Given the description of an element on the screen output the (x, y) to click on. 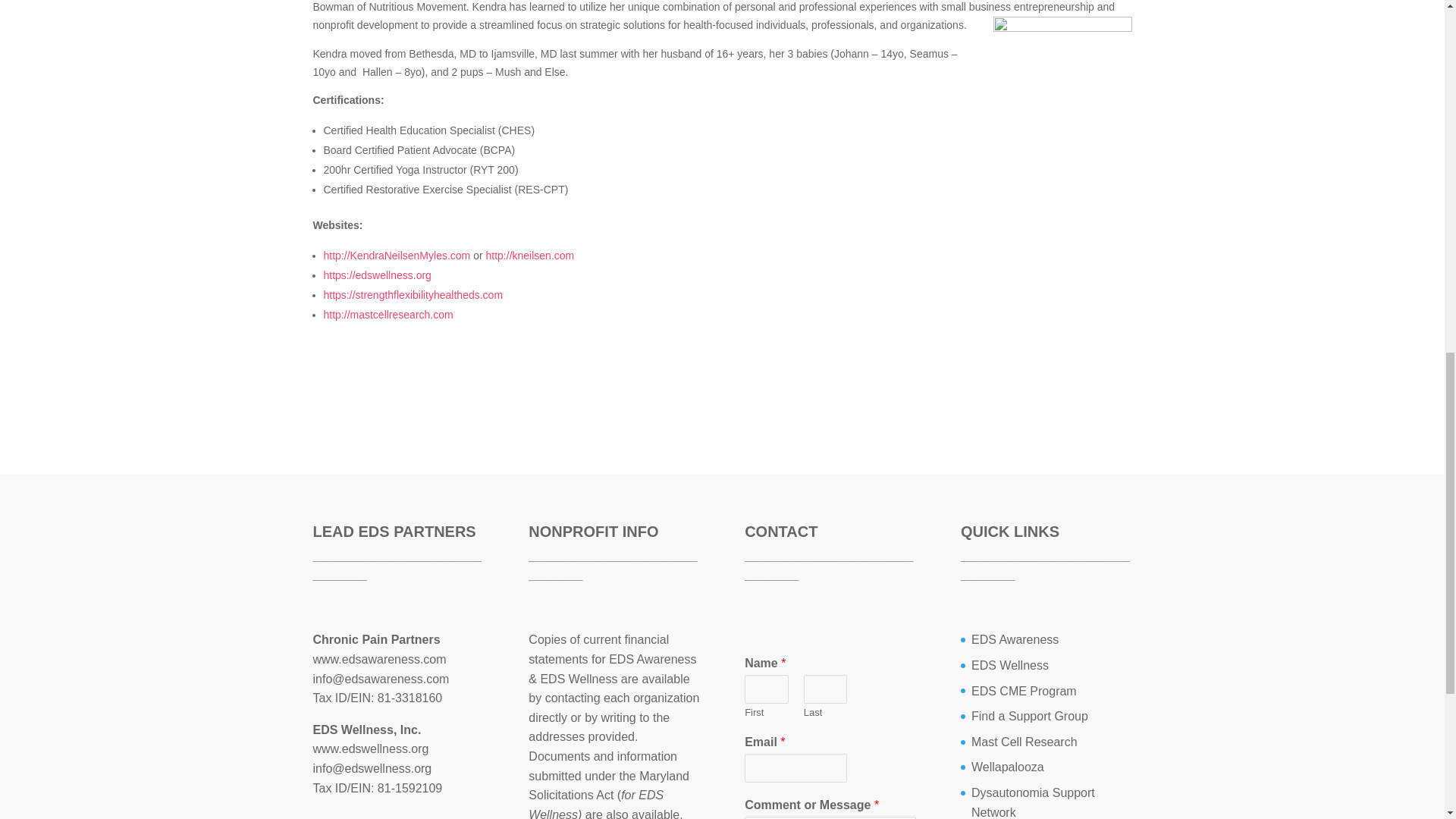
www.edswellness.org (370, 748)
EDS Wellness (1009, 665)
EDS CME Program (1024, 690)
Mast Cell Research (1024, 741)
Wellapalooza (1007, 766)
Dysautonomia Support Network (1032, 802)
EDS Awareness (1014, 639)
www.edsawareness.com (379, 658)
Find a Support Group (1029, 716)
